Given the description of an element on the screen output the (x, y) to click on. 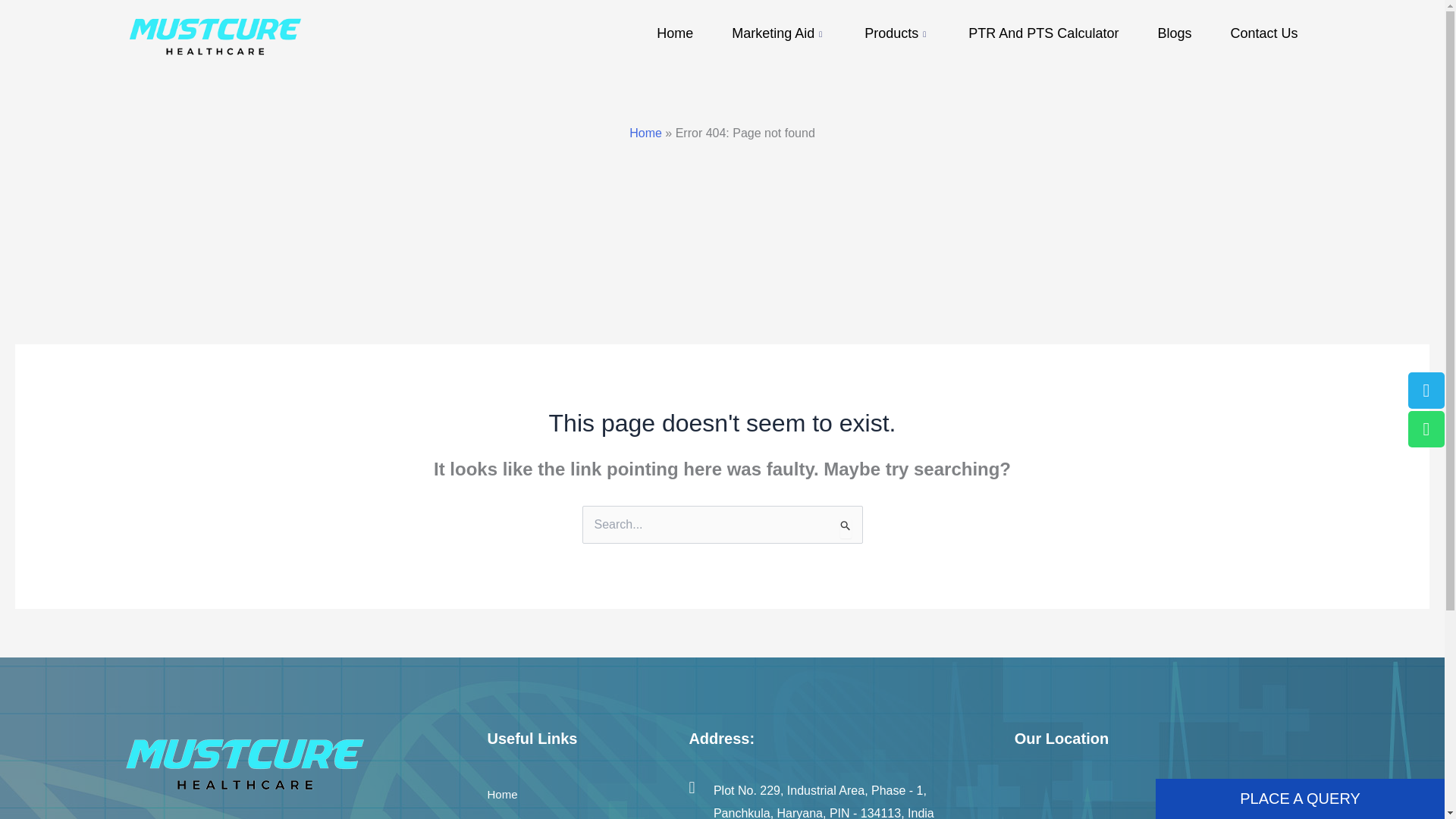
PTR And PTS Calculator (1043, 33)
Home (501, 794)
Contact Us (1264, 33)
Products (897, 33)
Abouts Us (512, 814)
Marketing Aid (779, 33)
Blogs (1174, 33)
Home (675, 33)
Home (645, 132)
